Given the description of an element on the screen output the (x, y) to click on. 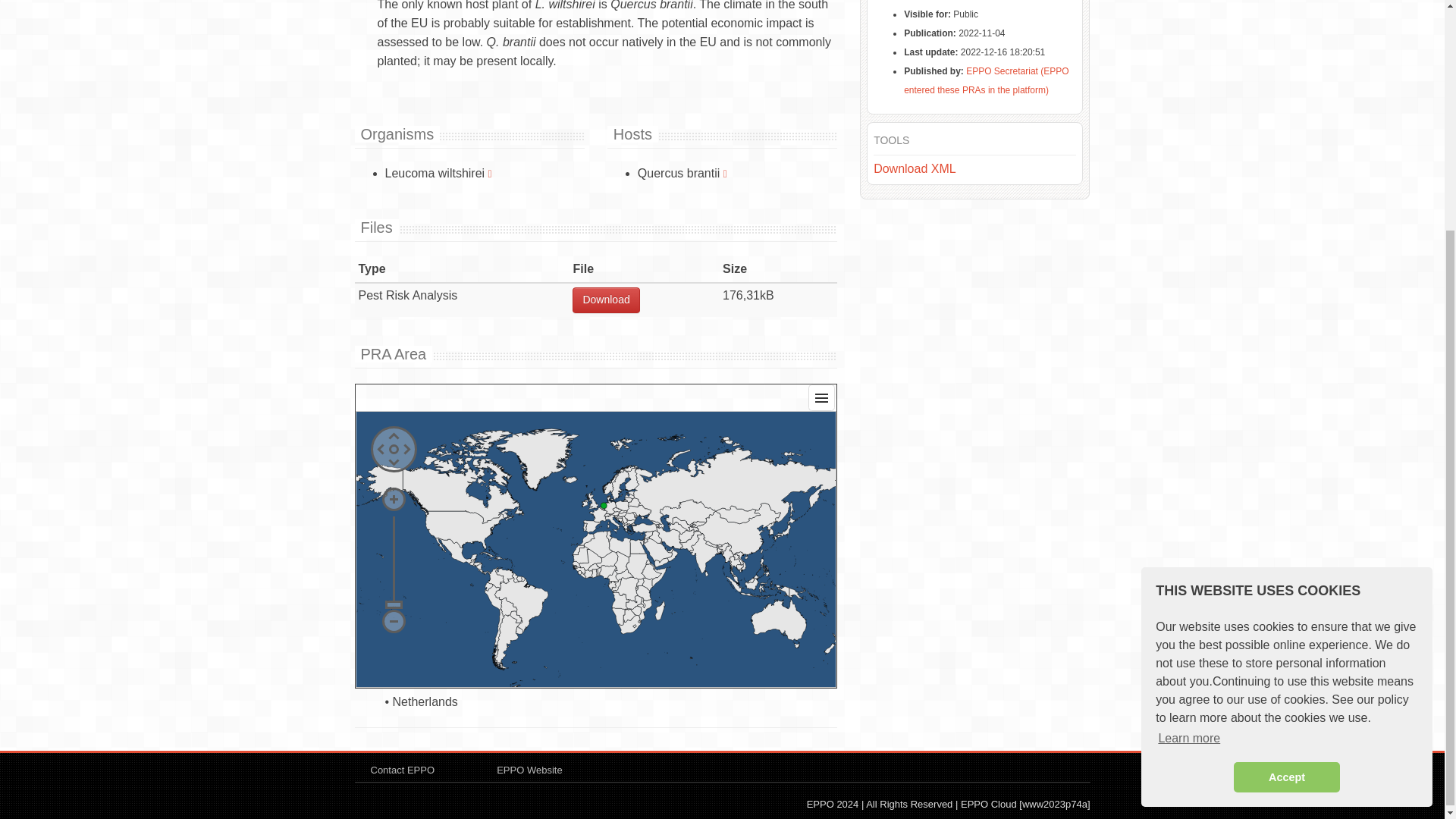
EPPO Website (529, 769)
Download XML (914, 168)
Learn more (1189, 424)
Download (605, 299)
Accept (1286, 462)
quick-scan-leucoma-wiltshirei.pdf (605, 299)
Contact EPPO (401, 769)
View other PRAs (489, 173)
View other PRAs (724, 173)
